Given the description of an element on the screen output the (x, y) to click on. 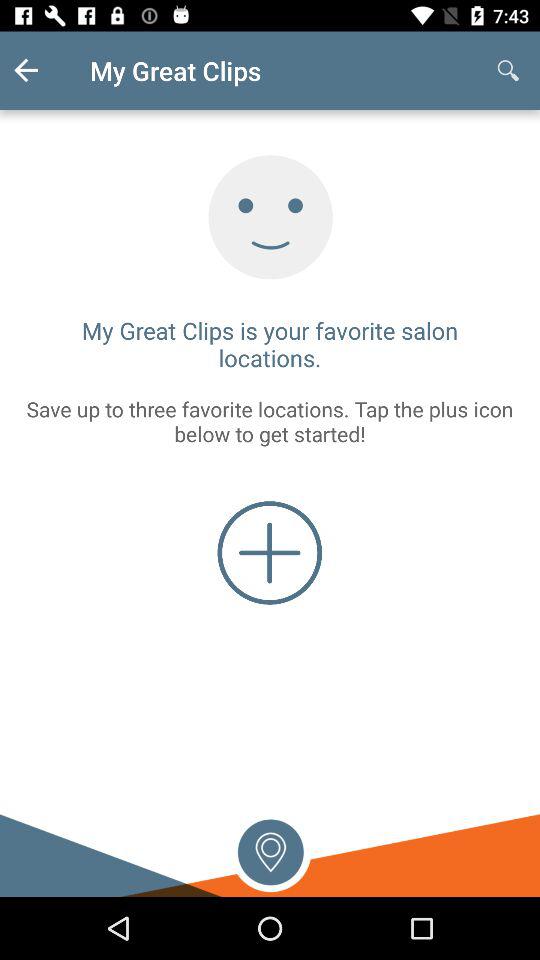
toggle the location option (270, 850)
